Given the description of an element on the screen output the (x, y) to click on. 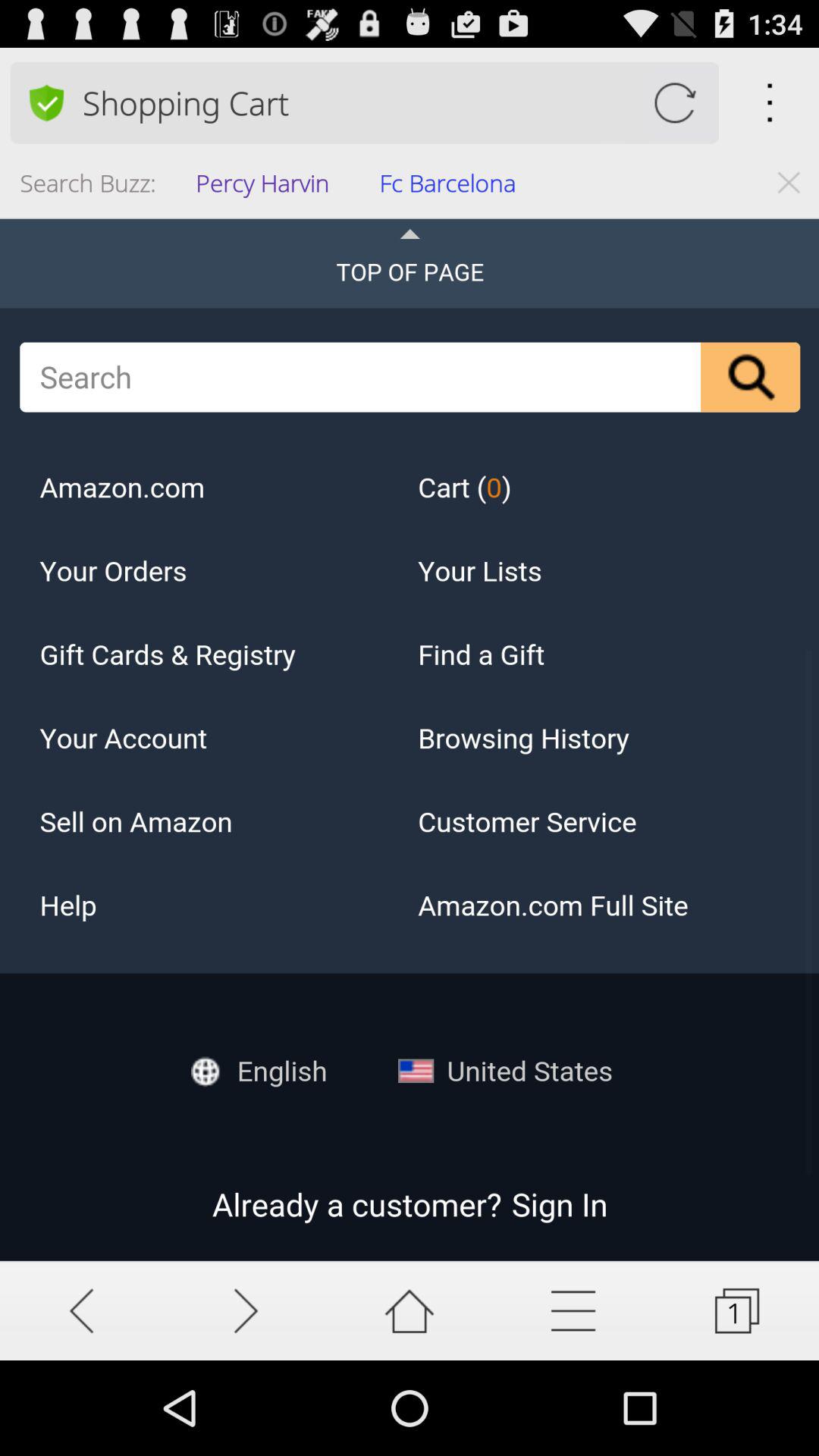
swipe until the fc barcelona icon (452, 187)
